Given the description of an element on the screen output the (x, y) to click on. 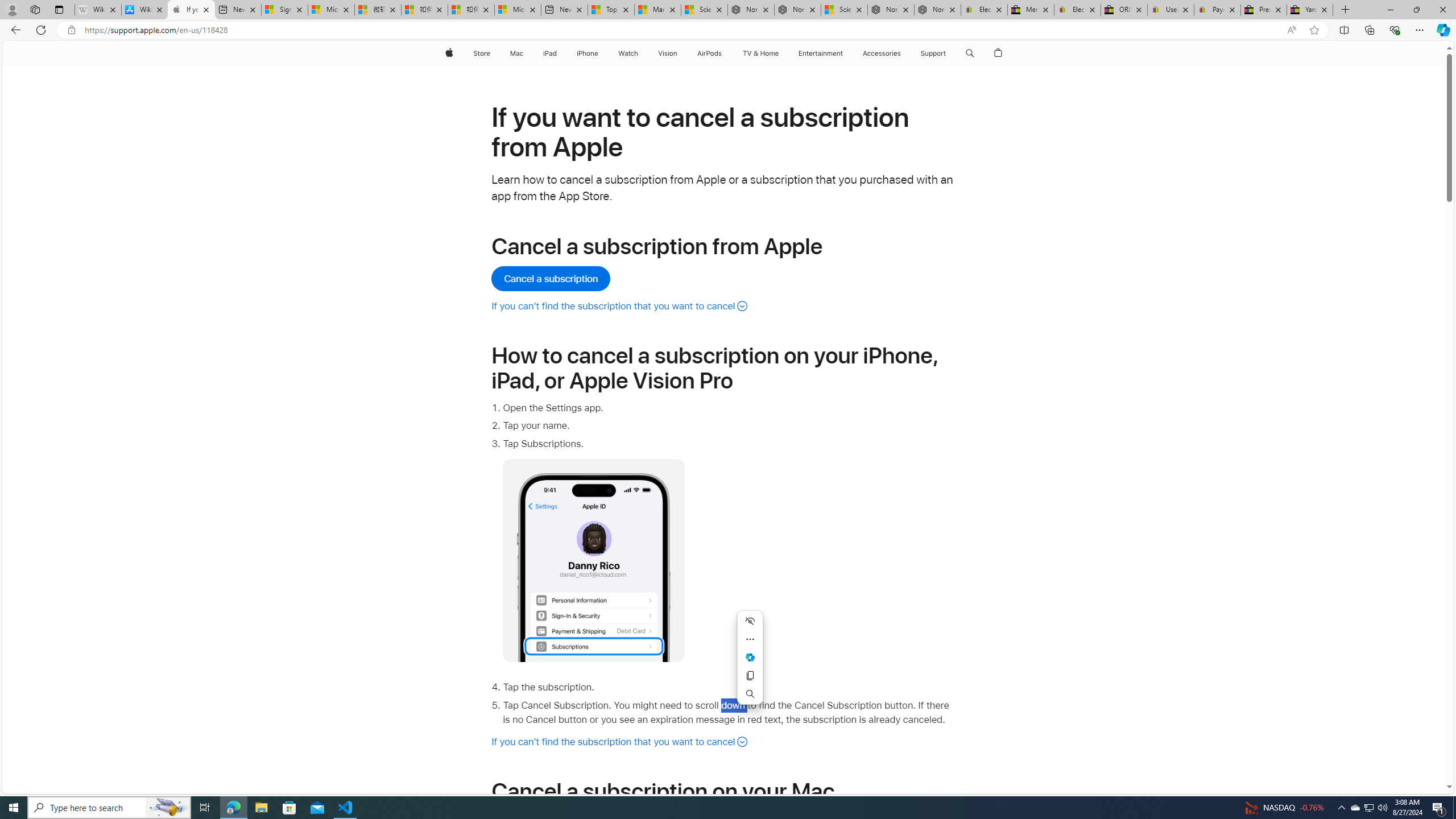
Mac (516, 53)
Mini menu on text selection (750, 657)
Read aloud this page (Ctrl+Shift+U) (1291, 29)
Mini menu on text selection (749, 664)
No alt supplied for Image (593, 560)
AirPods (709, 53)
Entertainment (820, 53)
